Given the description of an element on the screen output the (x, y) to click on. 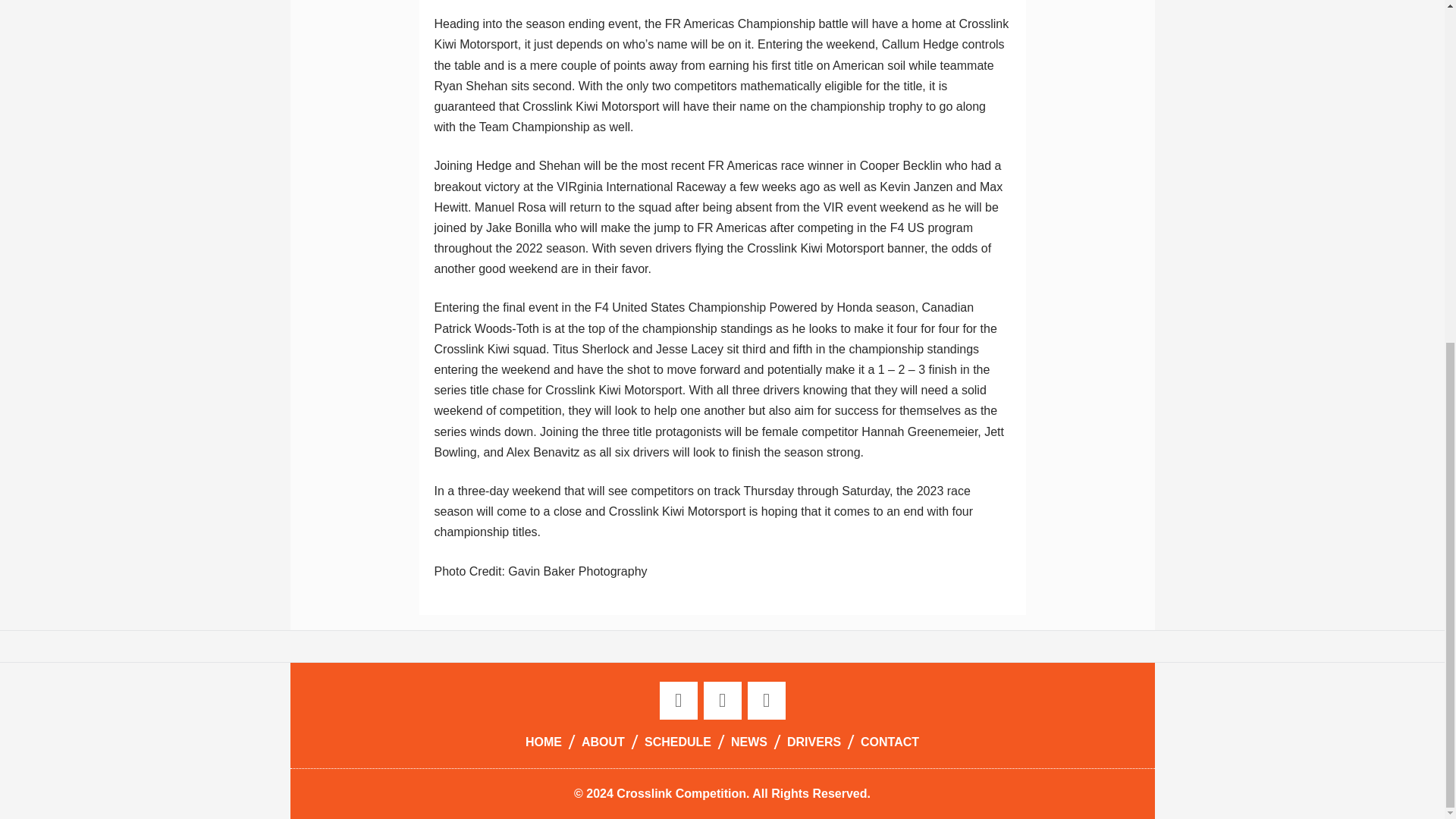
DRIVERS (813, 741)
SCHEDULE (677, 741)
HOME (543, 741)
Twitter (722, 700)
NEWS (749, 741)
CONTACT (889, 741)
Facebook-f (678, 700)
Instagram (767, 700)
ABOUT (602, 741)
